Given the description of an element on the screen output the (x, y) to click on. 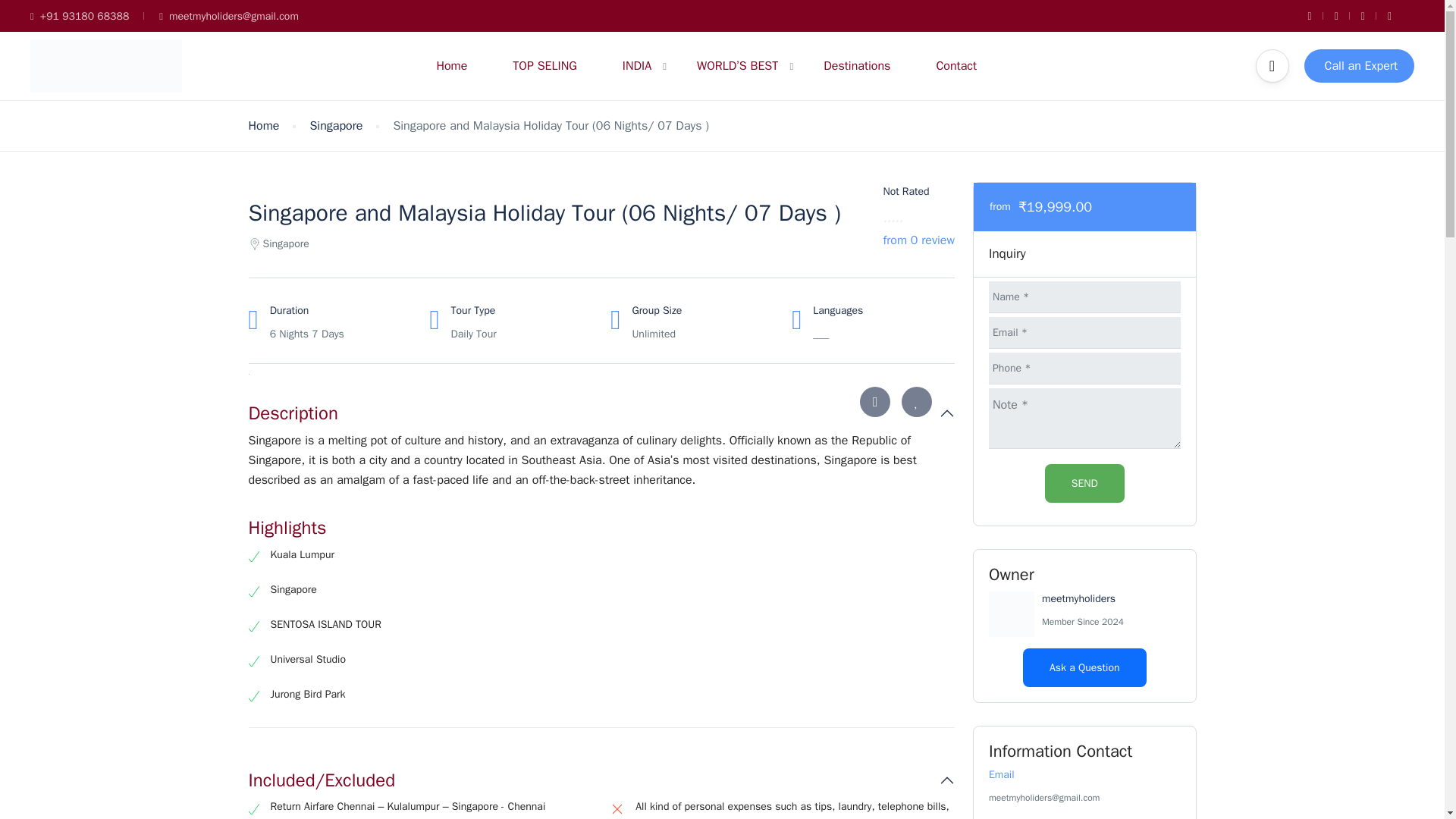
TOP SELING (543, 65)
Home (451, 65)
INDIA (636, 65)
Send (1084, 483)
